Given the description of an element on the screen output the (x, y) to click on. 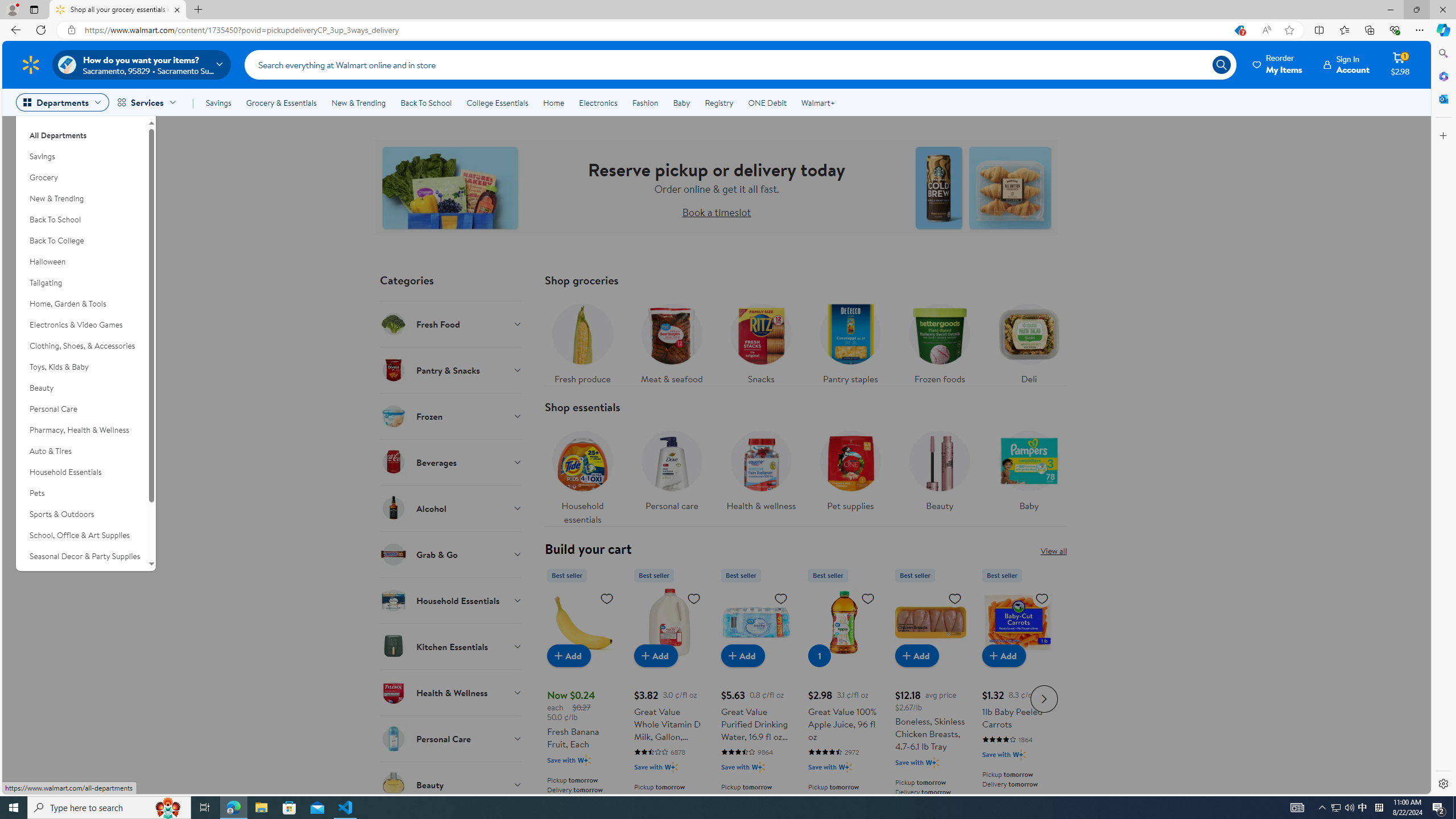
Sign in to add to Favorites list, 1lb Baby Peeled Carrots (1041, 597)
